Given the description of an element on the screen output the (x, y) to click on. 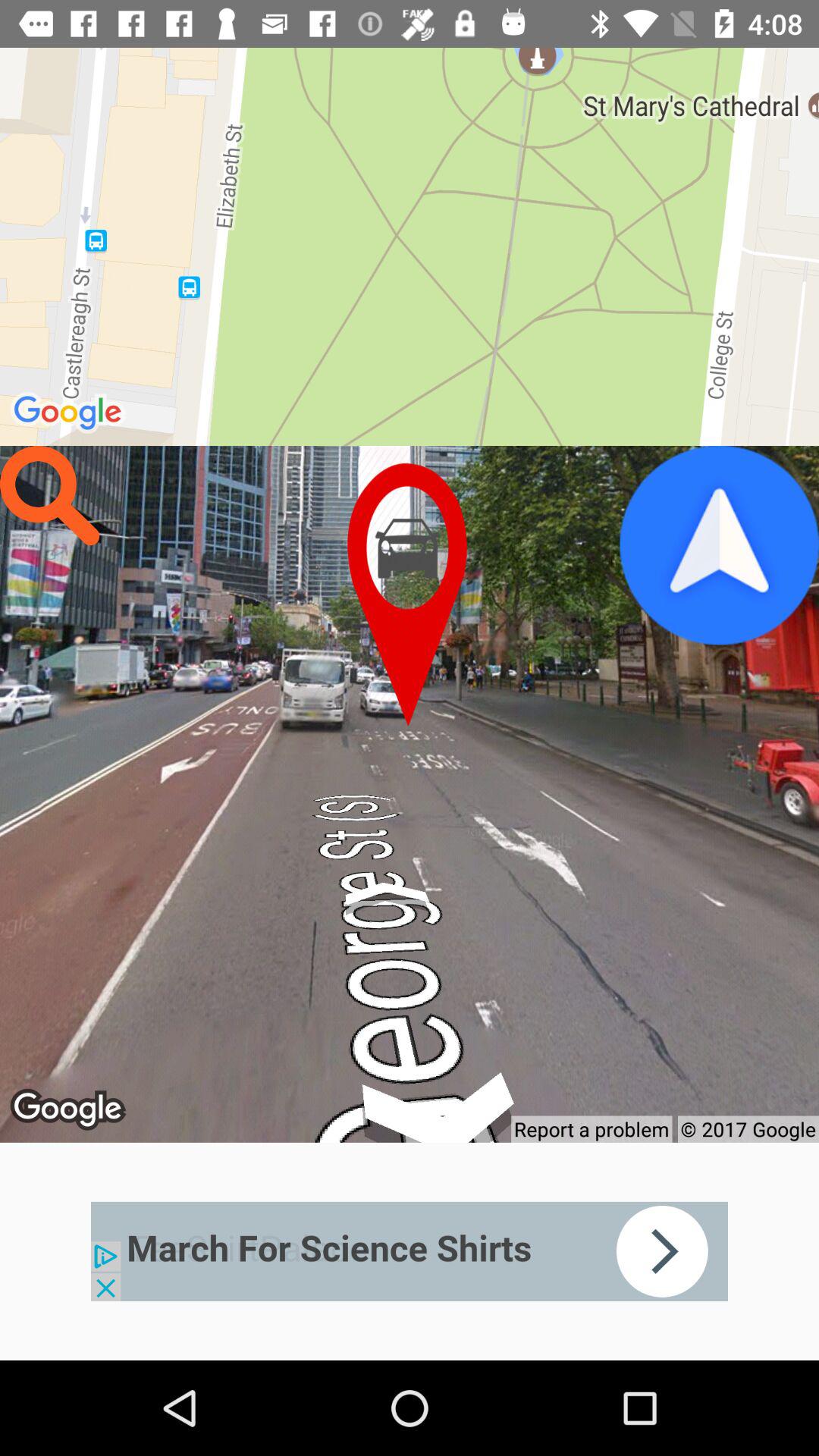
search box (49, 495)
